Given the description of an element on the screen output the (x, y) to click on. 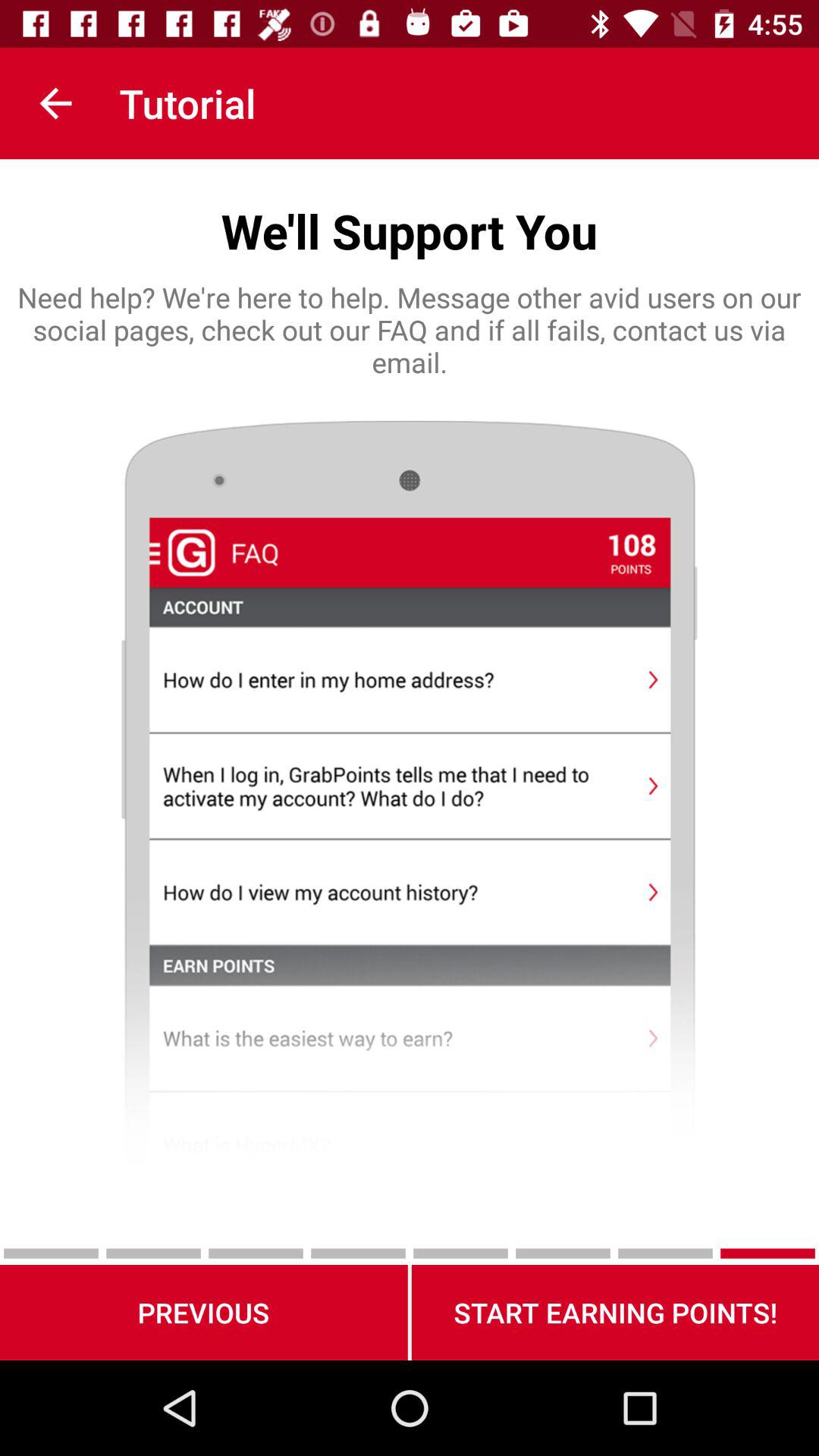
click the icon to the left of tutorial item (55, 103)
